Given the description of an element on the screen output the (x, y) to click on. 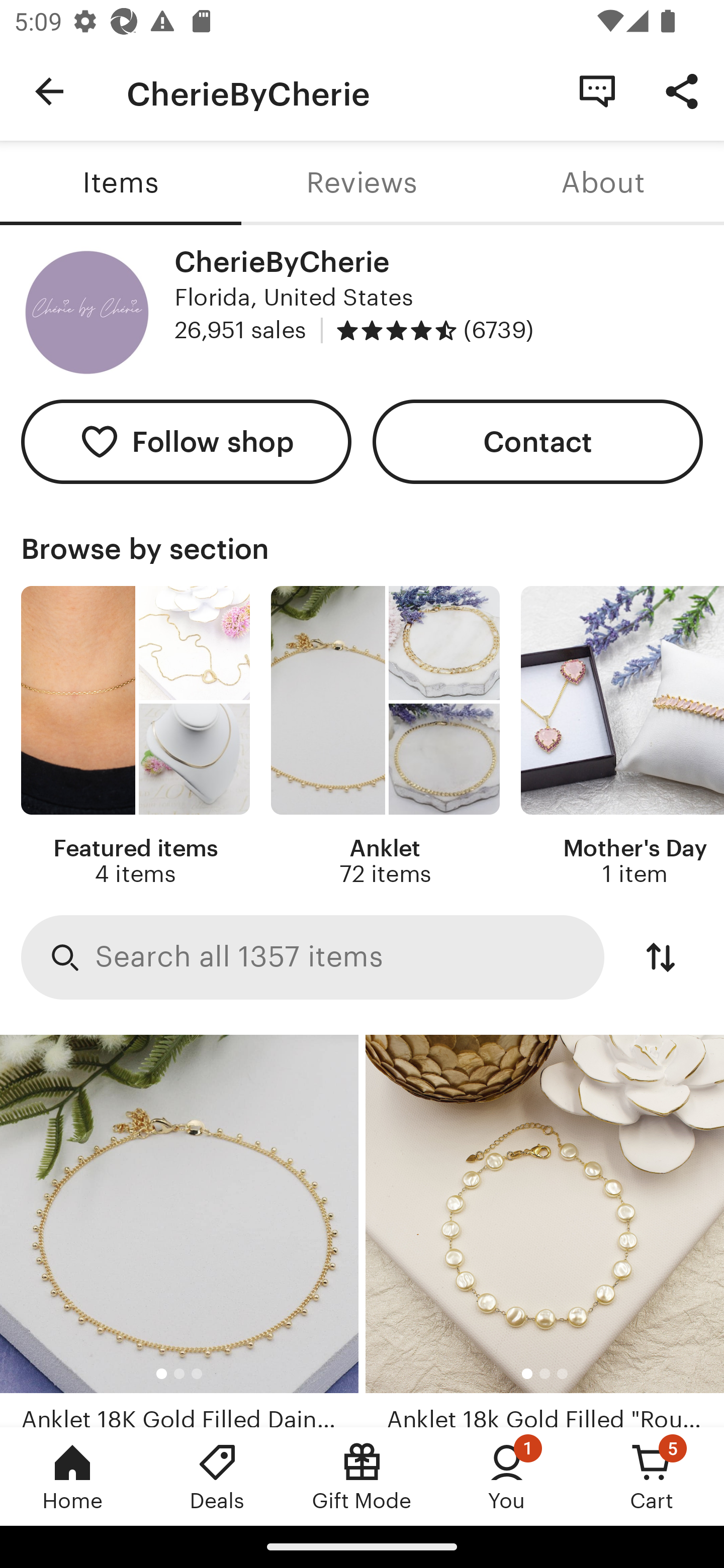
Navigate up (49, 91)
Contact Shop (597, 90)
Share (681, 90)
Reviews (361, 183)
About (603, 183)
Follow shop (185, 441)
Contact (537, 441)
Featured items 4 items (134, 736)
Anklet 72 items (384, 736)
Mother's Day 1 item (622, 736)
Search Search all 1357 items (312, 957)
Anklet 18k Gold Filled "Rounded Flat Pearl" (544, 1230)
Deals (216, 1475)
Gift Mode (361, 1475)
You, 1 new notification You (506, 1475)
Cart, 5 new notifications Cart (651, 1475)
